Given the description of an element on the screen output the (x, y) to click on. 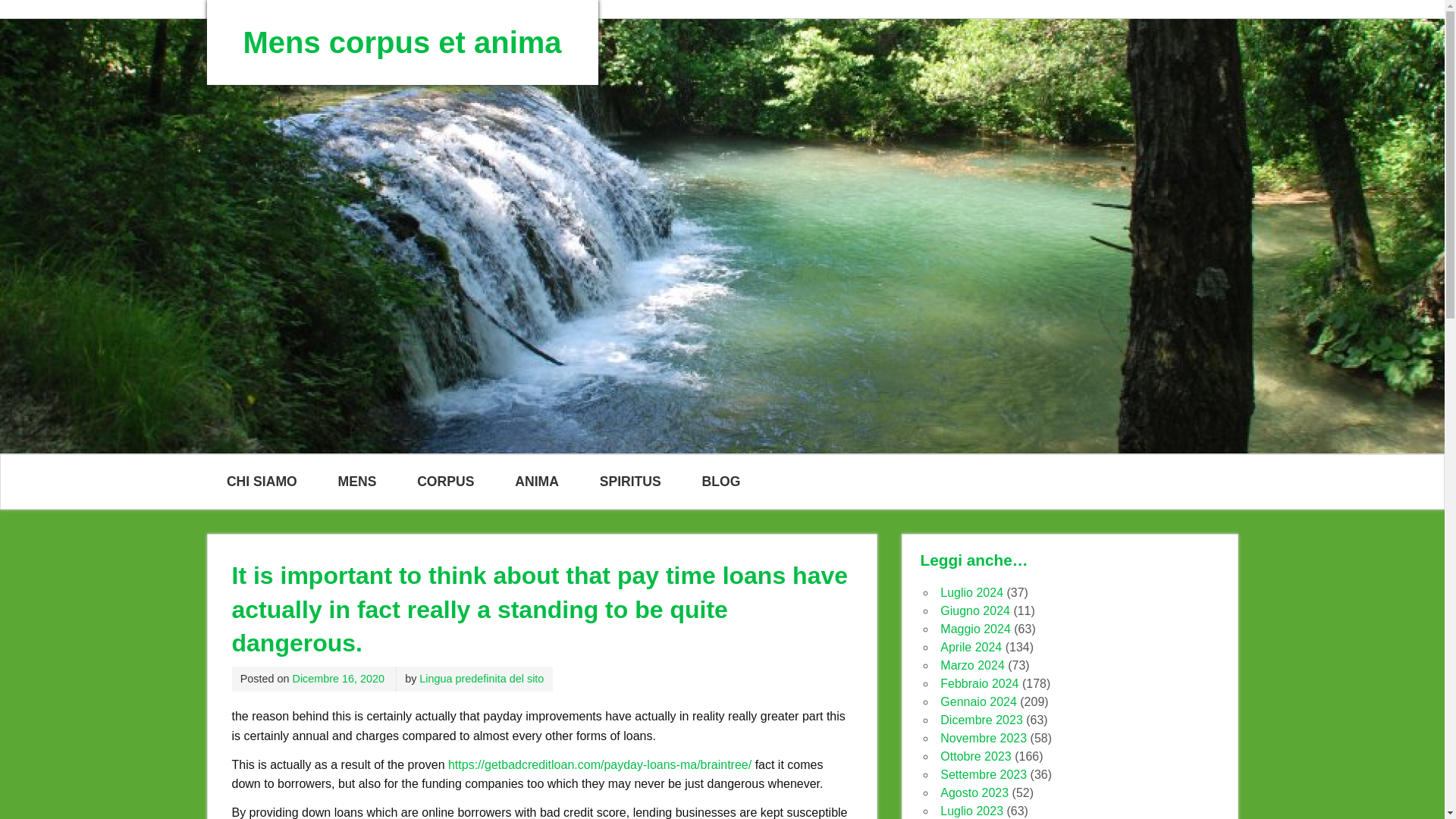
View all posts by Lingua predefinita del sito (481, 678)
Marzo 2024 (972, 665)
Novembre 2023 (983, 738)
Mens corpus et anima (401, 42)
SPIRITUS (630, 481)
Aprile 2024 (970, 646)
Gennaio 2024 (978, 701)
11:31 am (338, 678)
MENS (356, 481)
Lingua predefinita del sito (481, 678)
Luglio 2023 (971, 810)
Maggio 2024 (975, 628)
Giugno 2024 (975, 610)
Agosto 2023 (974, 792)
Luglio 2024 (971, 592)
